Given the description of an element on the screen output the (x, y) to click on. 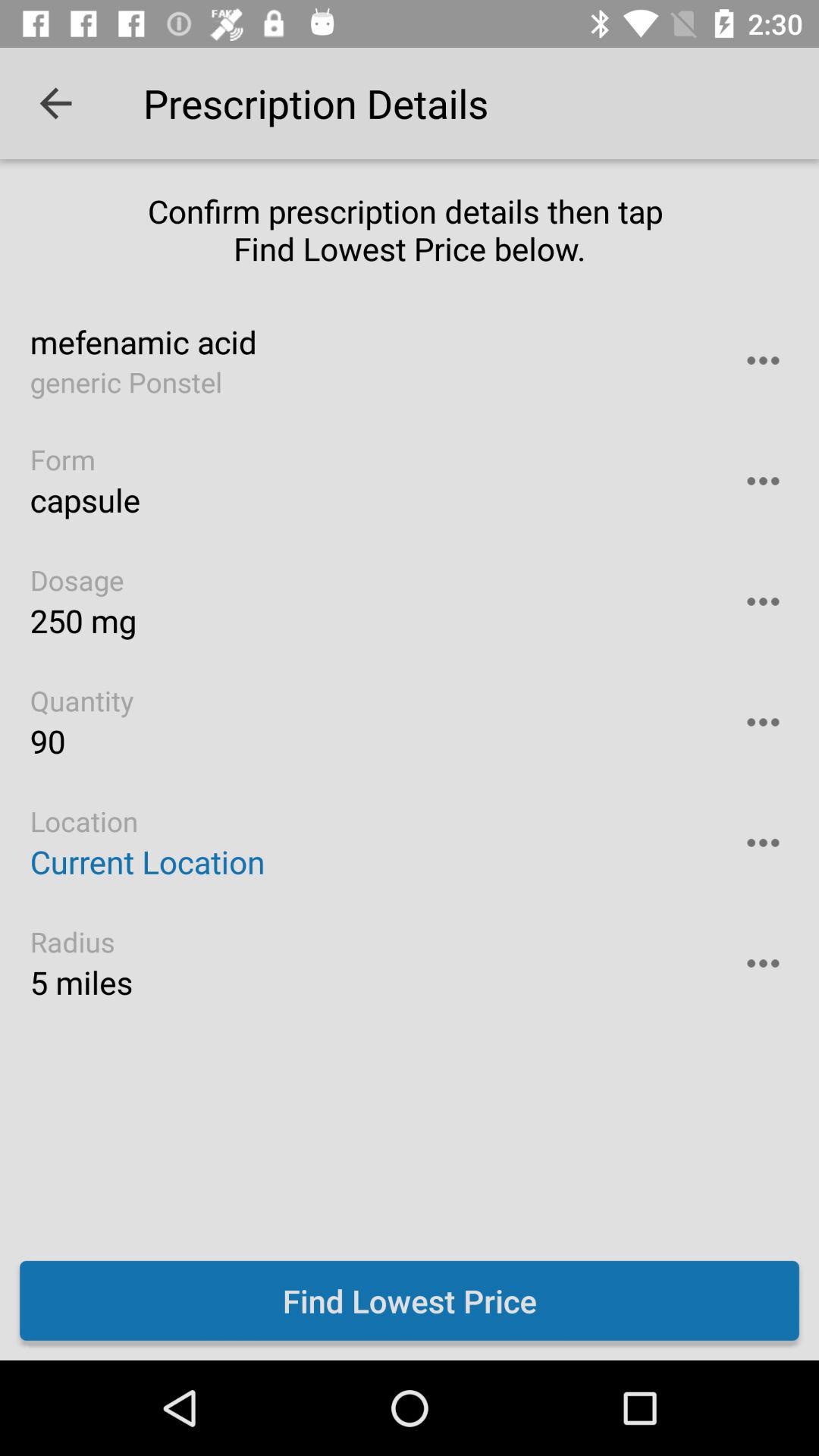
click on more icon under radius (763, 963)
click on 3 dots which is beside form (763, 480)
select the blue coloured text at bottom of the page (409, 1300)
